Given the description of an element on the screen output the (x, y) to click on. 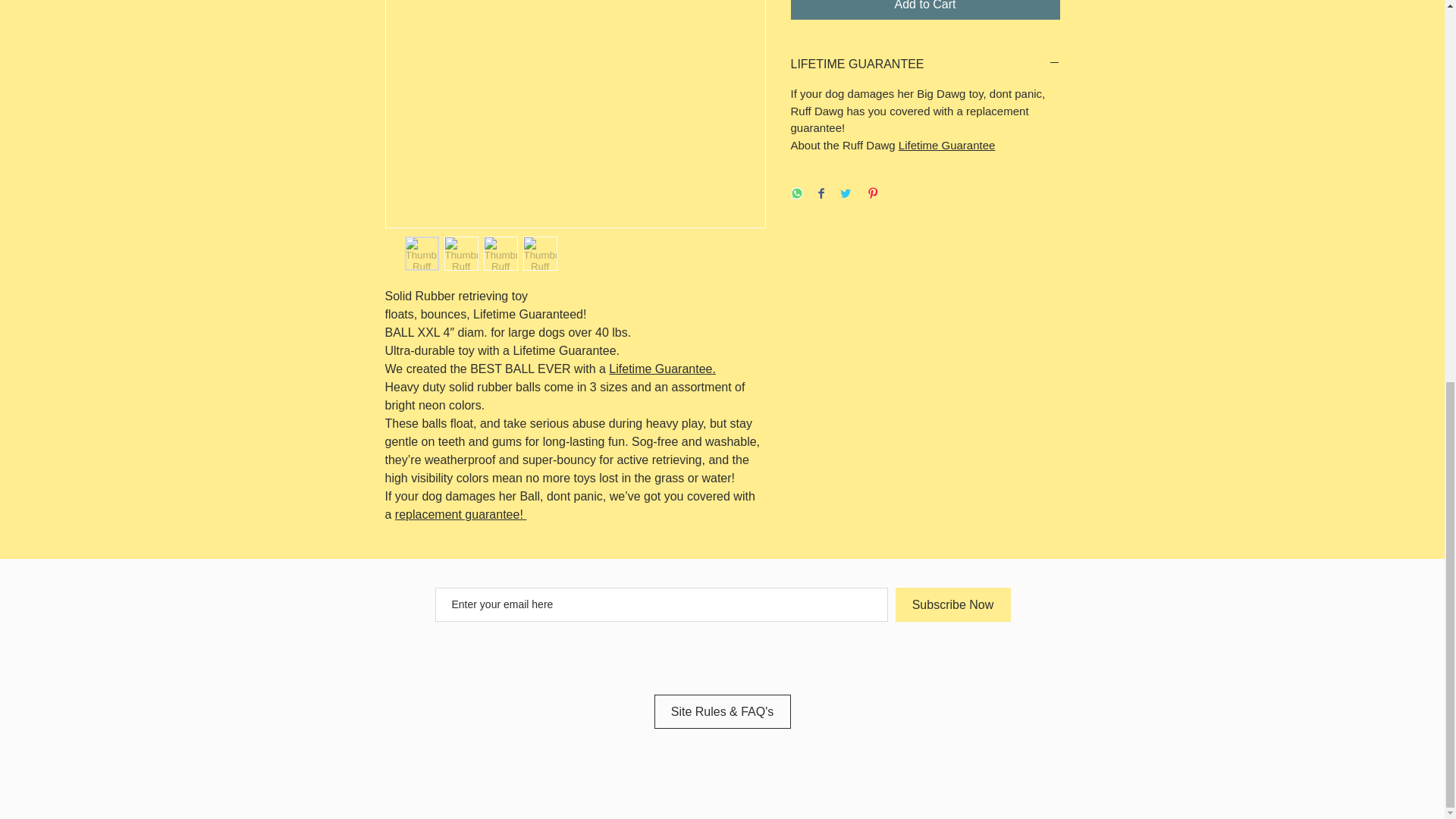
Subscribe Now (952, 604)
Lifetime Guarantee (946, 144)
replacement guarantee!  (459, 513)
Lifetime Guarantee. (662, 368)
Add to Cart (924, 9)
LIFETIME GUARANTEE (924, 64)
